Given the description of an element on the screen output the (x, y) to click on. 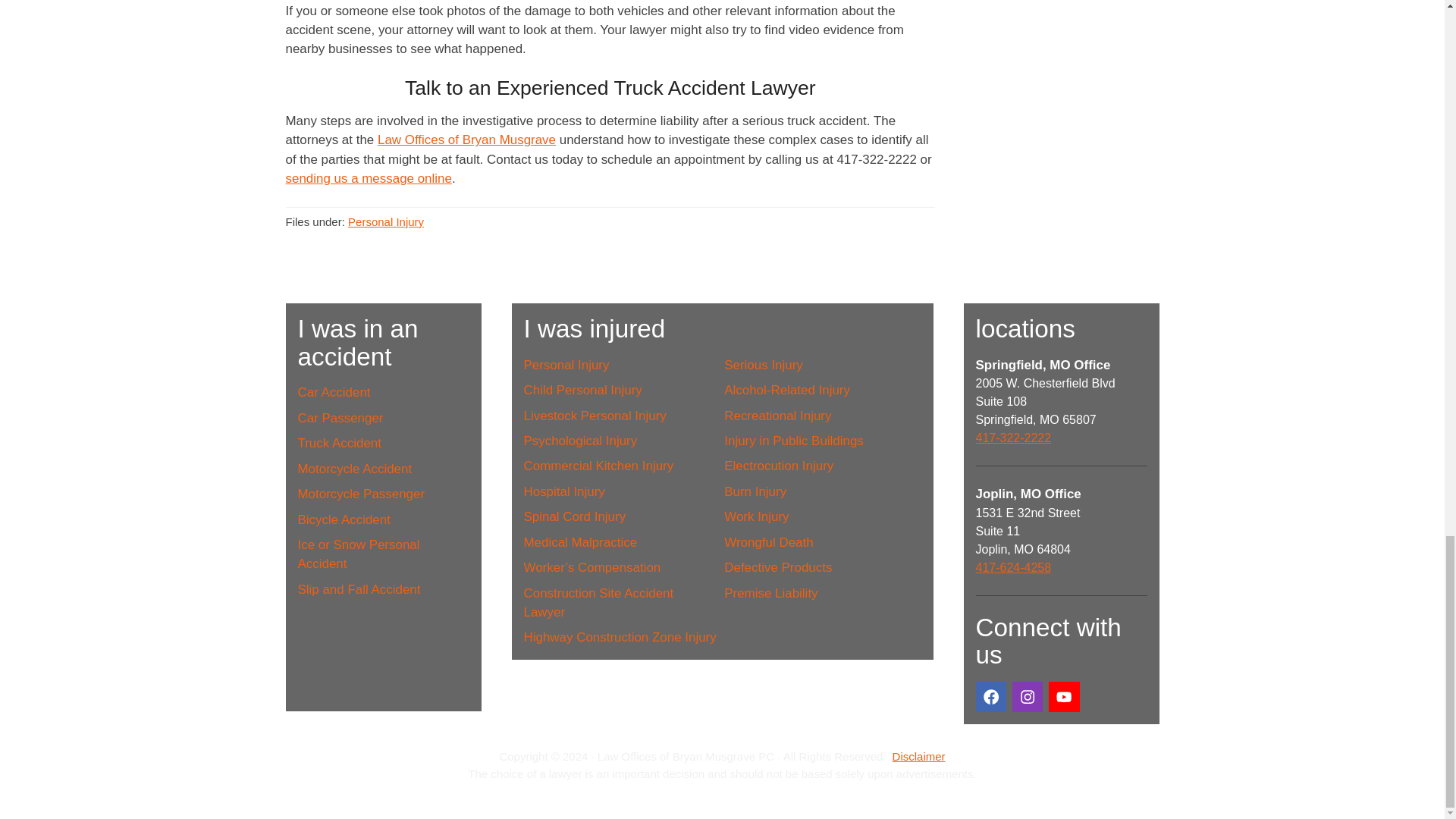
Law Offices of Bryan Musgrave (466, 139)
sending us a message online (368, 178)
Personal Injury (385, 221)
